Given the description of an element on the screen output the (x, y) to click on. 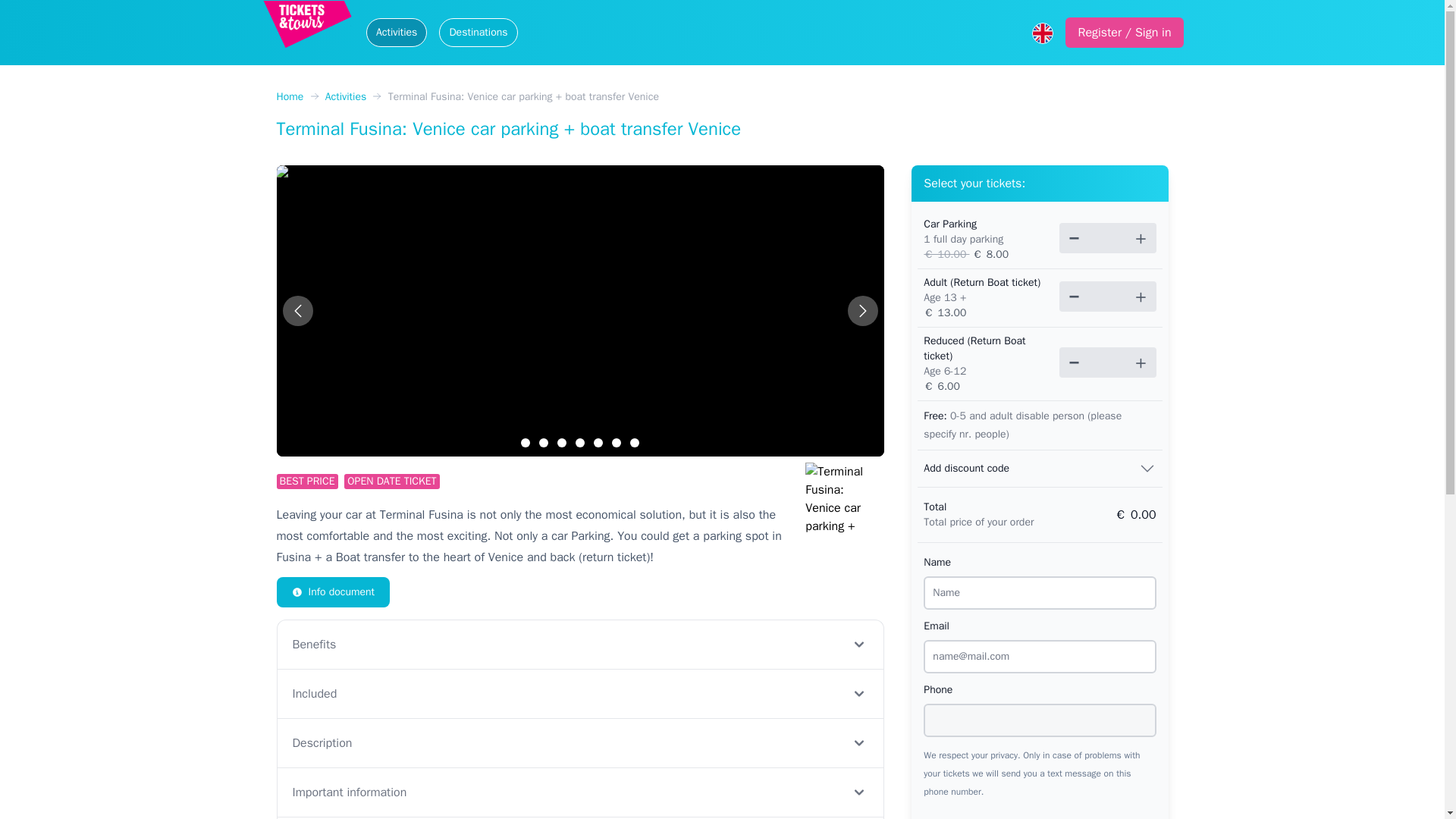
Info document (333, 592)
Description (579, 742)
Benefits (579, 644)
Destinations (477, 32)
Activities (397, 32)
Included (579, 693)
Activities (345, 96)
Home (289, 96)
